Given the description of an element on the screen output the (x, y) to click on. 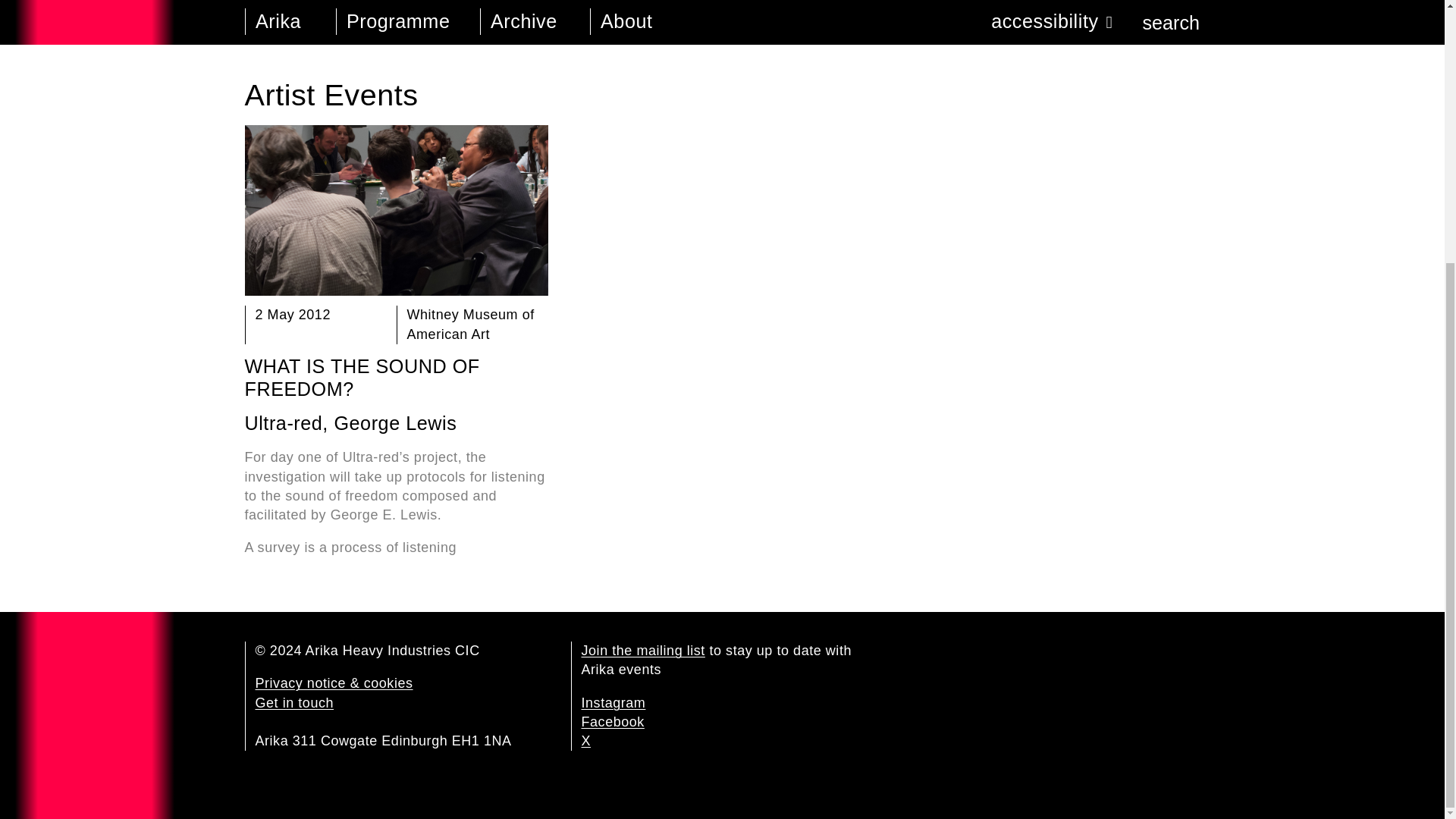
Instagram (612, 702)
WHAT IS THE SOUND OF FREEDOM? (361, 377)
Facebook (611, 721)
Facebook (611, 721)
Get in touch (293, 702)
Instagram (612, 702)
Join the mailing list (642, 650)
